Given the description of an element on the screen output the (x, y) to click on. 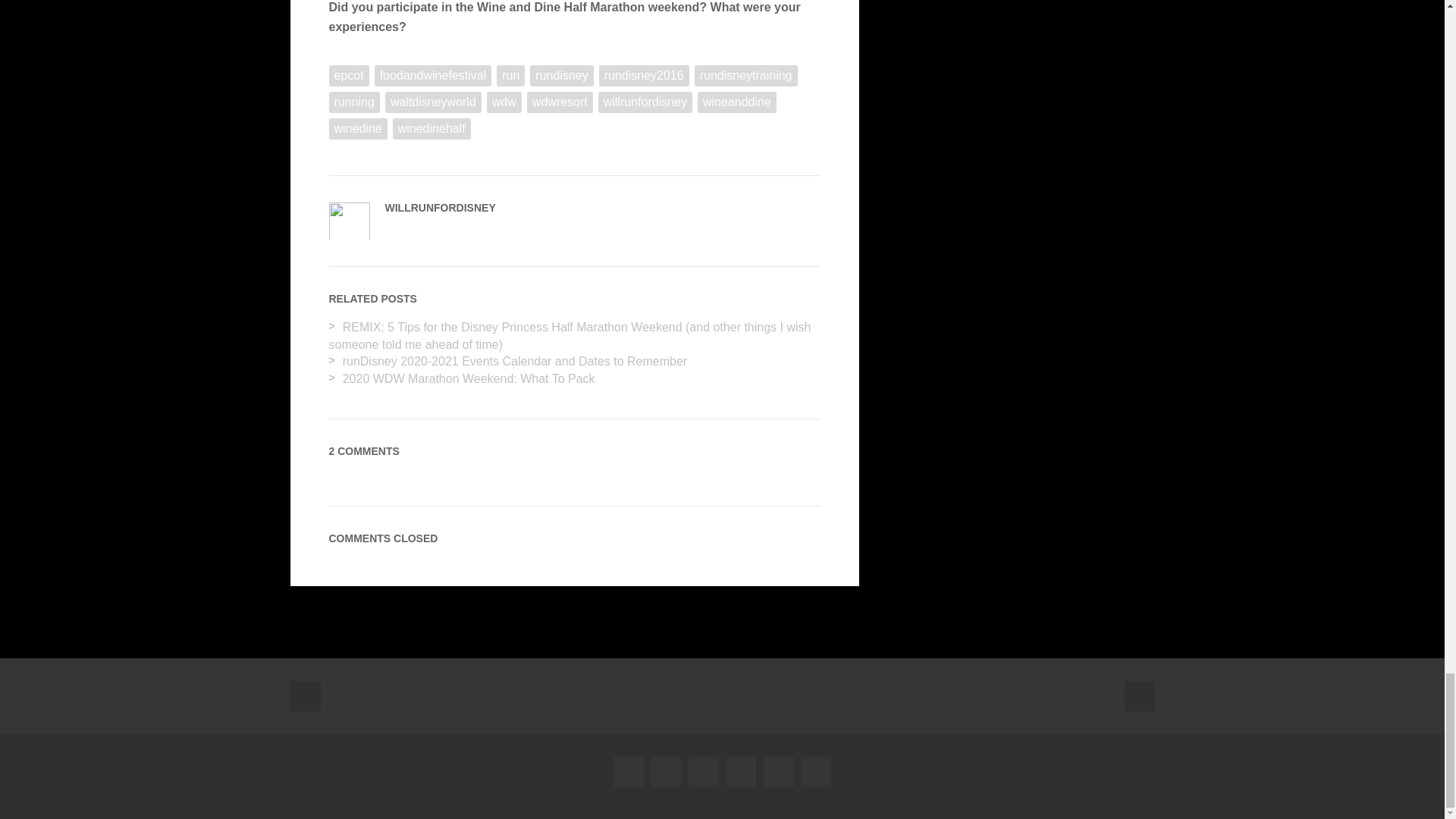
rundisneytraining (745, 75)
rundisney2016 (643, 75)
wdw (503, 102)
epcot (349, 75)
WILLRUNFORDISNEY (440, 207)
runDisney 2020-2021 Events Calendar and Dates to Remember (514, 360)
willrunfordisney (645, 102)
wineanddine (736, 102)
wdwresort (559, 102)
foodandwinefestival (433, 75)
